Given the description of an element on the screen output the (x, y) to click on. 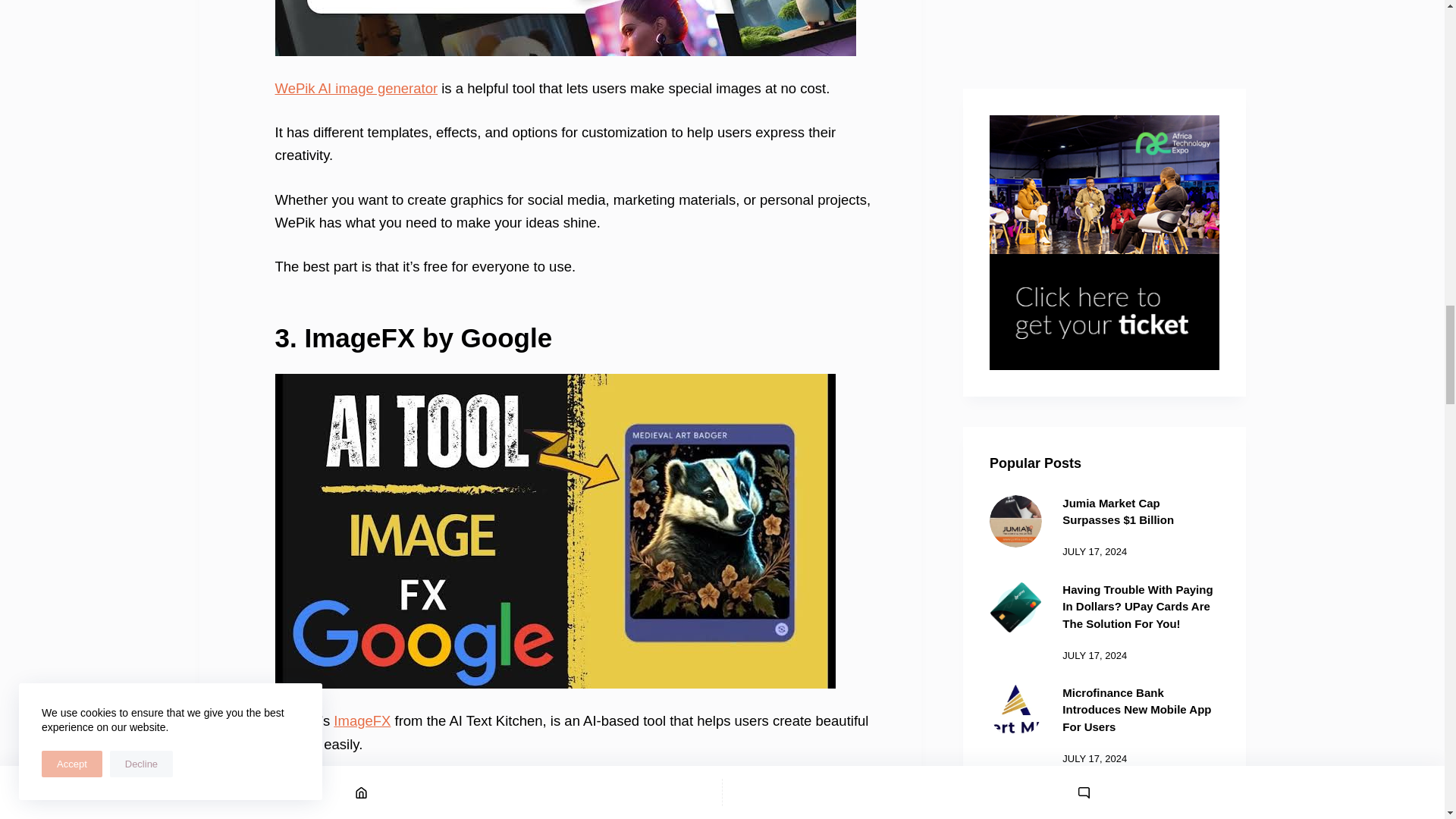
WePik AI image generator (356, 88)
